Given the description of an element on the screen output the (x, y) to click on. 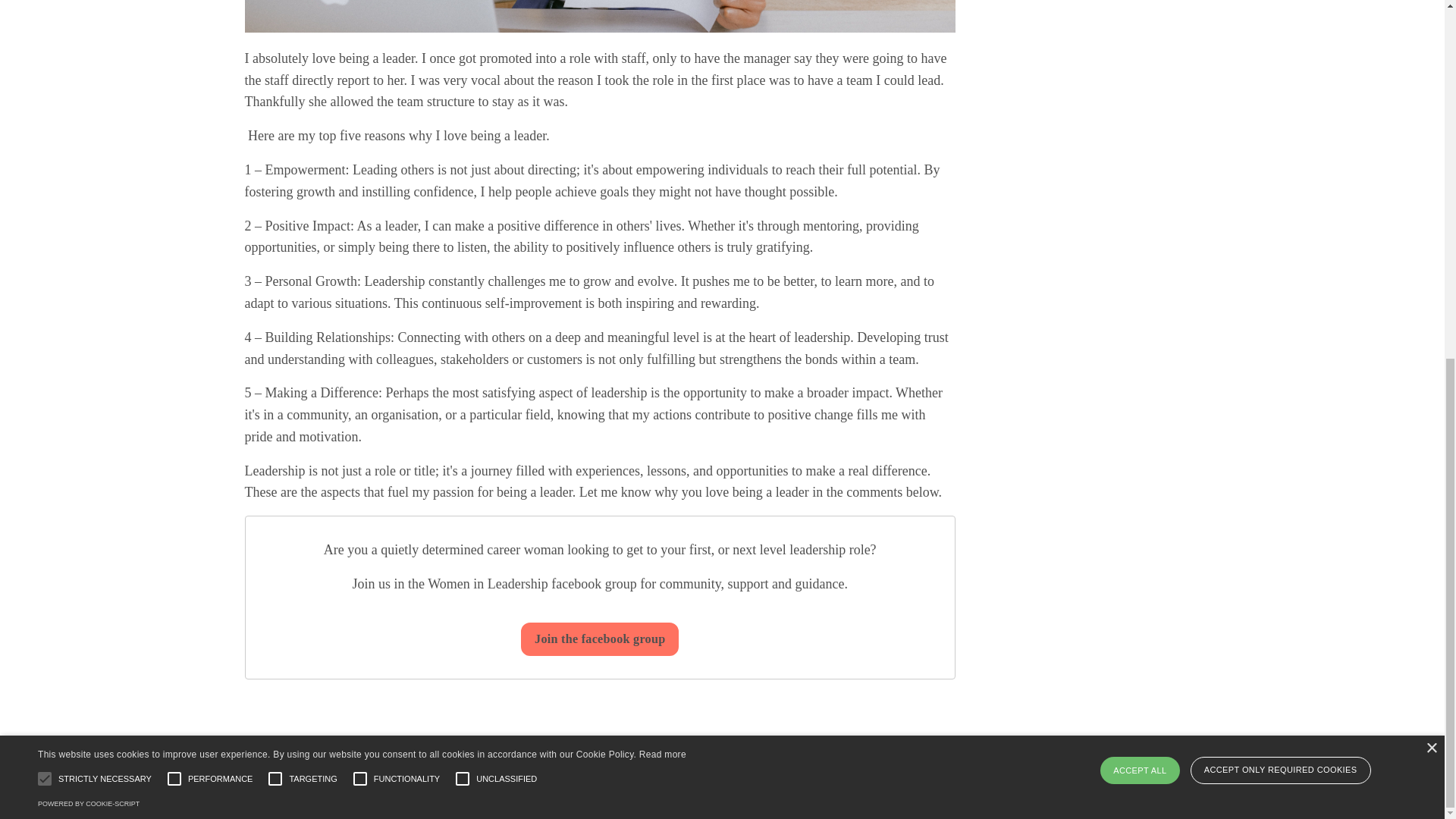
Read more (662, 120)
Join the facebook group (599, 639)
Privacy (285, 780)
POWERED BY COOKIE-SCRIPT (88, 169)
Terms (340, 780)
